Given the description of an element on the screen output the (x, y) to click on. 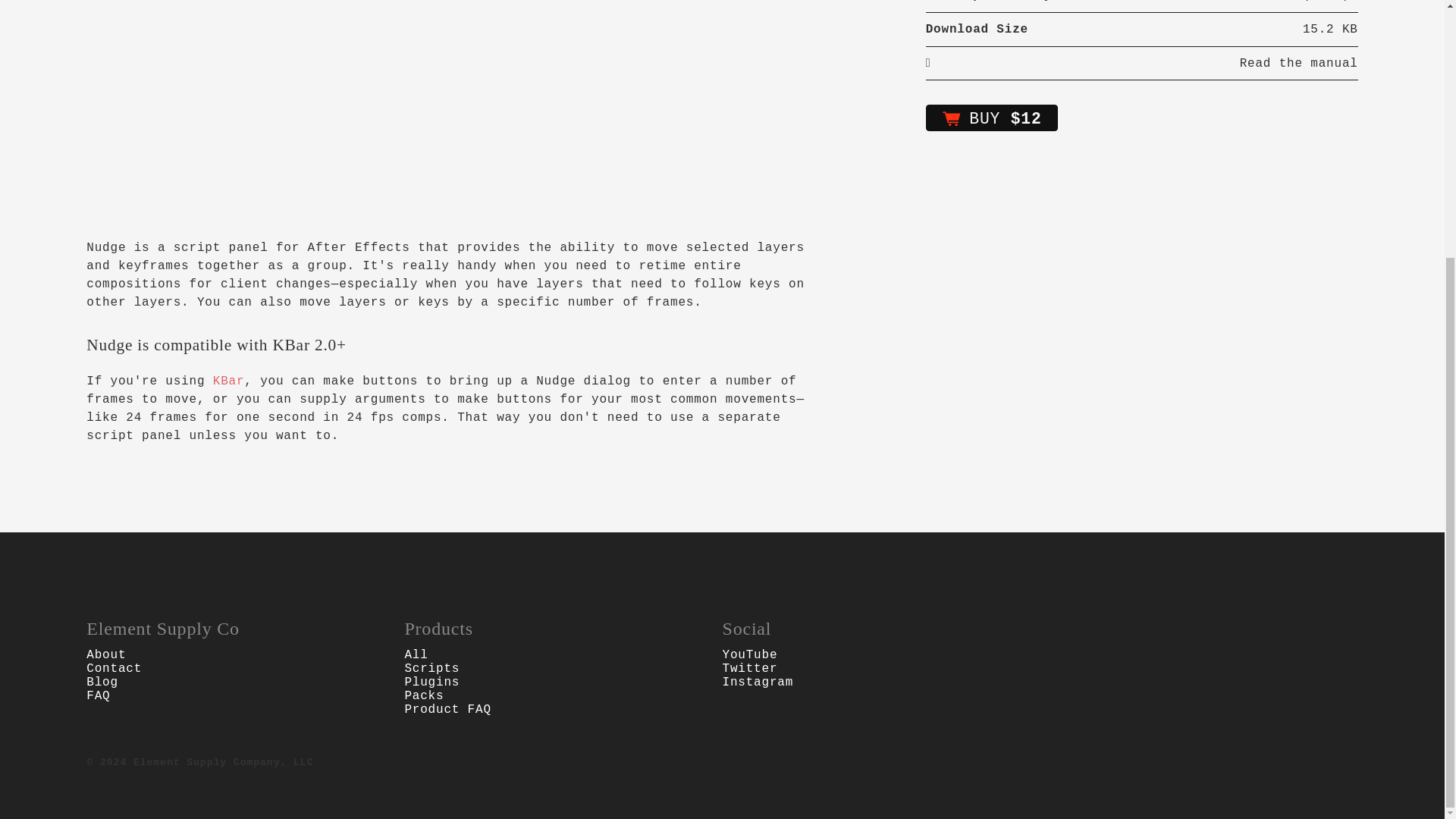
YouTube (749, 654)
Twitter (749, 668)
Scripts (432, 668)
All (416, 654)
KBar (228, 381)
FAQ (97, 695)
Packs (424, 695)
Read the manual (928, 63)
Contact (113, 668)
About (105, 654)
Blog (101, 682)
Instagram (757, 682)
Plugins (432, 682)
Product FAQ (447, 709)
